Given the description of an element on the screen output the (x, y) to click on. 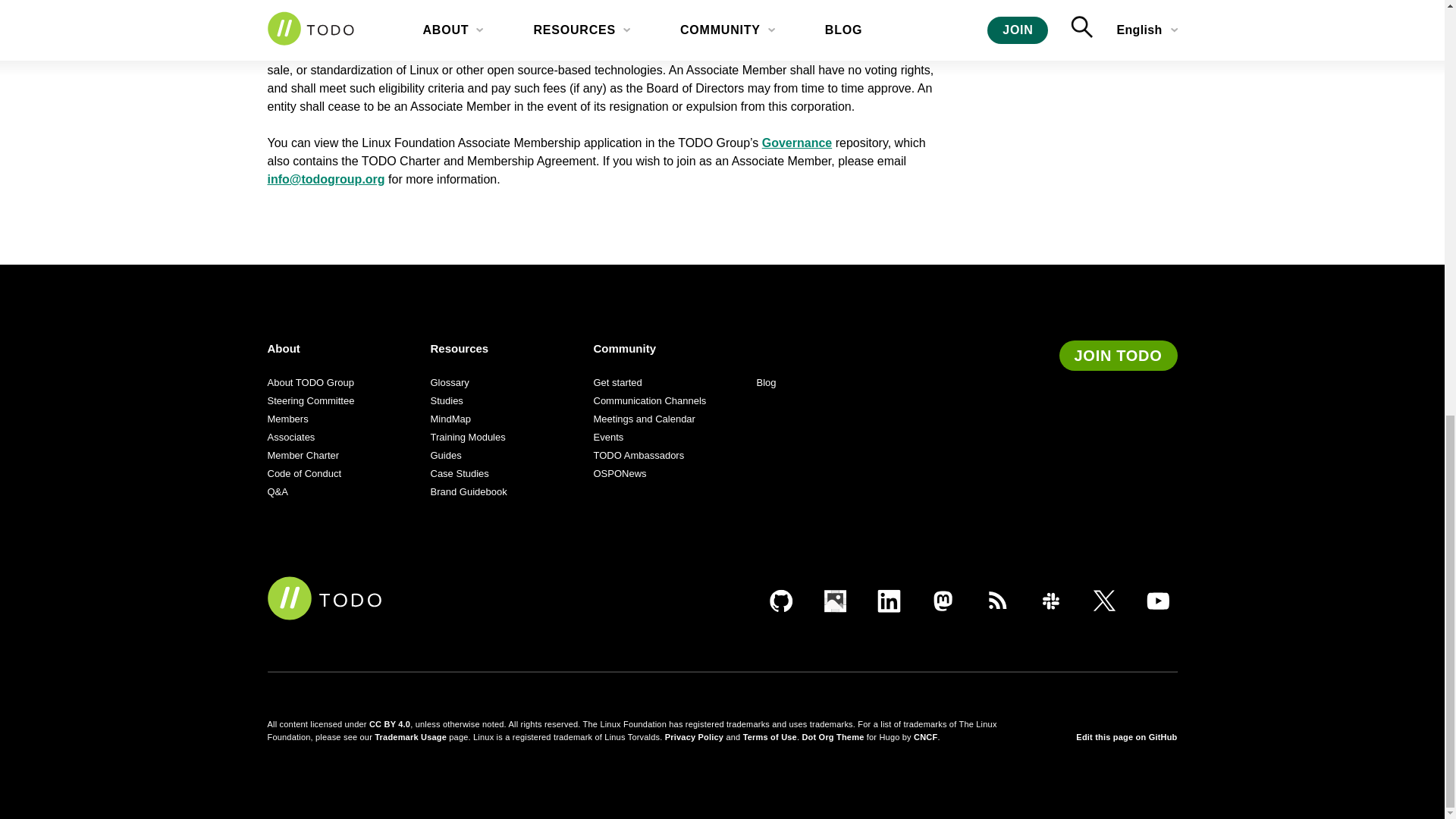
Governance (796, 142)
Members (286, 419)
Associates (290, 437)
Steering Committee (309, 400)
About TODO Group (309, 382)
